Given the description of an element on the screen output the (x, y) to click on. 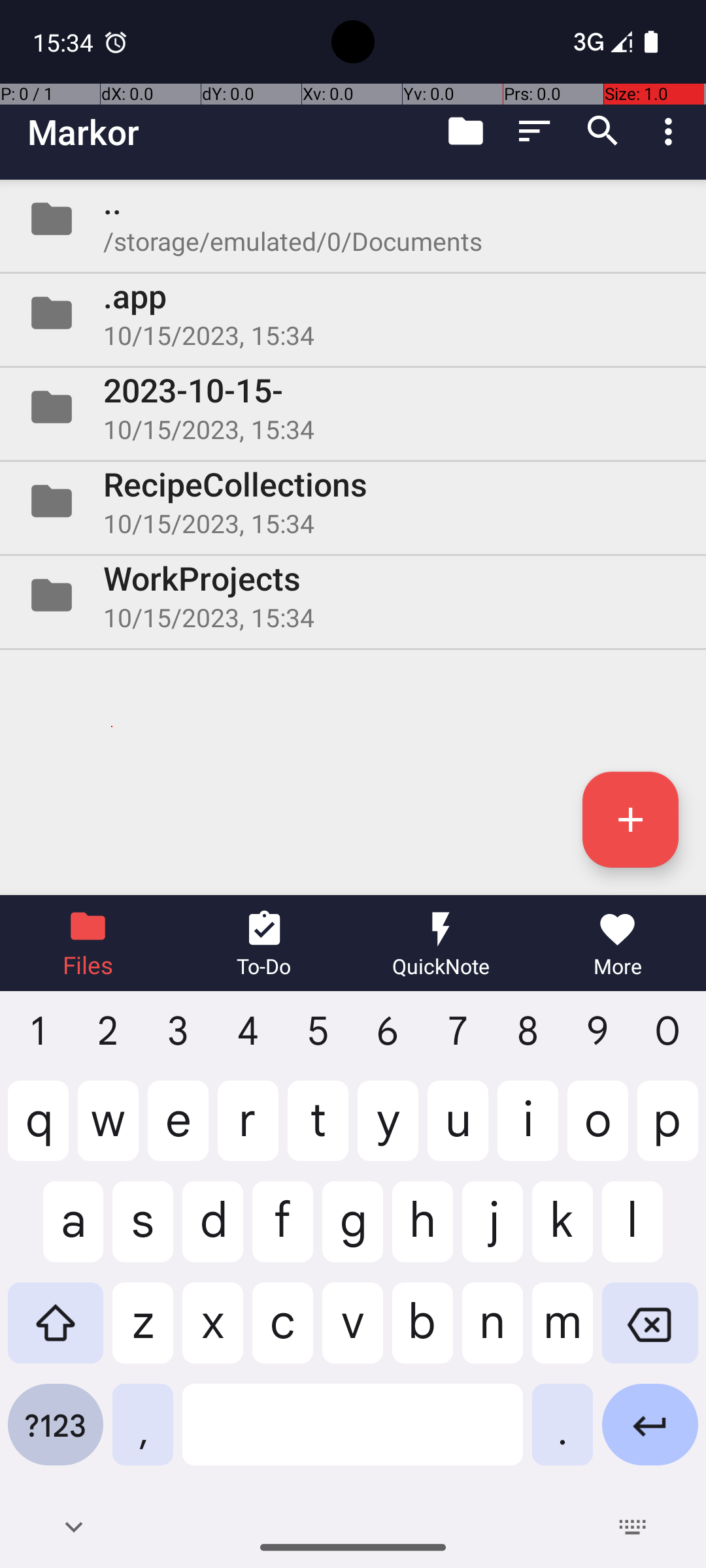
Folder .app 10/15/2023, 15:34 Element type: android.widget.LinearLayout (353, 312)
Folder 2023-10-15- 10/15/2023, 15:34 Element type: android.widget.LinearLayout (353, 406)
Folder RecipeCollections  Element type: android.widget.LinearLayout (353, 500)
Folder WorkProjects  Element type: android.widget.LinearLayout (353, 594)
